Given the description of an element on the screen output the (x, y) to click on. 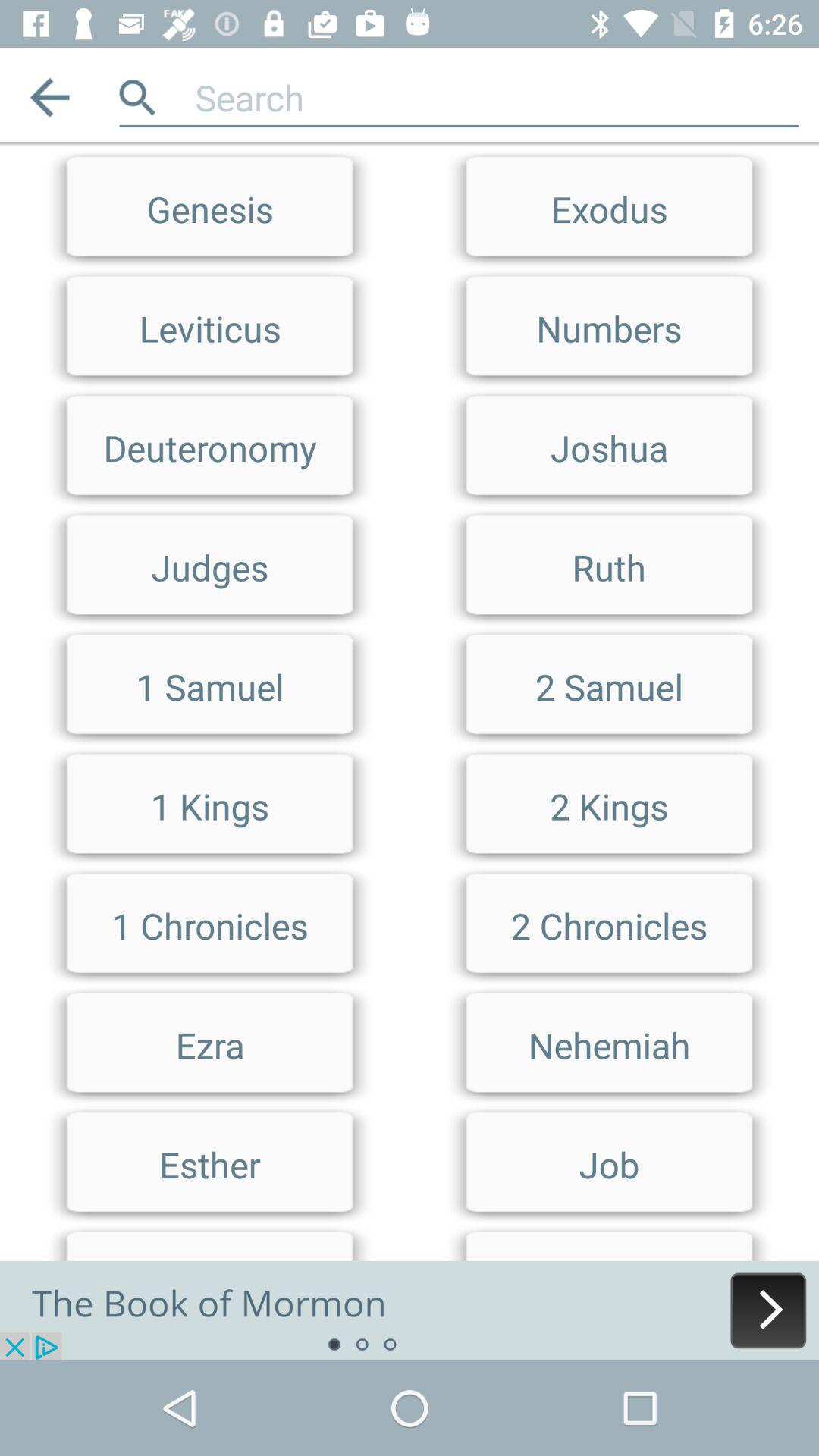
enter search term (497, 97)
